Given the description of an element on the screen output the (x, y) to click on. 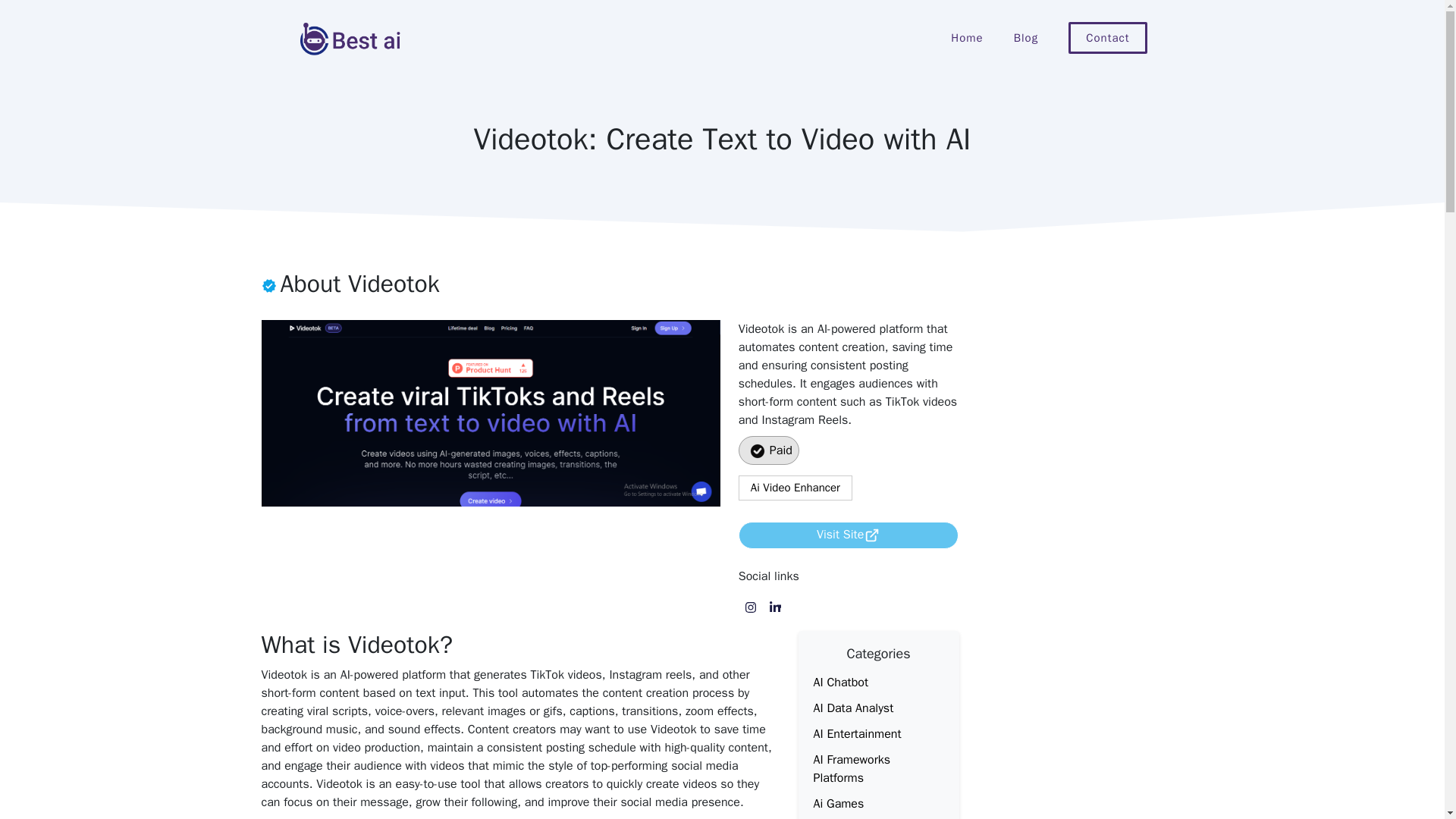
Visit Site (839, 534)
AI Data Analyst (852, 708)
AI Entertainment (856, 734)
Contact (1107, 38)
Home (966, 37)
Ai Games (837, 803)
AI Chatbot (839, 682)
Visit Site (848, 534)
Blog (1025, 37)
AI Frameworks Platforms (850, 768)
